Given the description of an element on the screen output the (x, y) to click on. 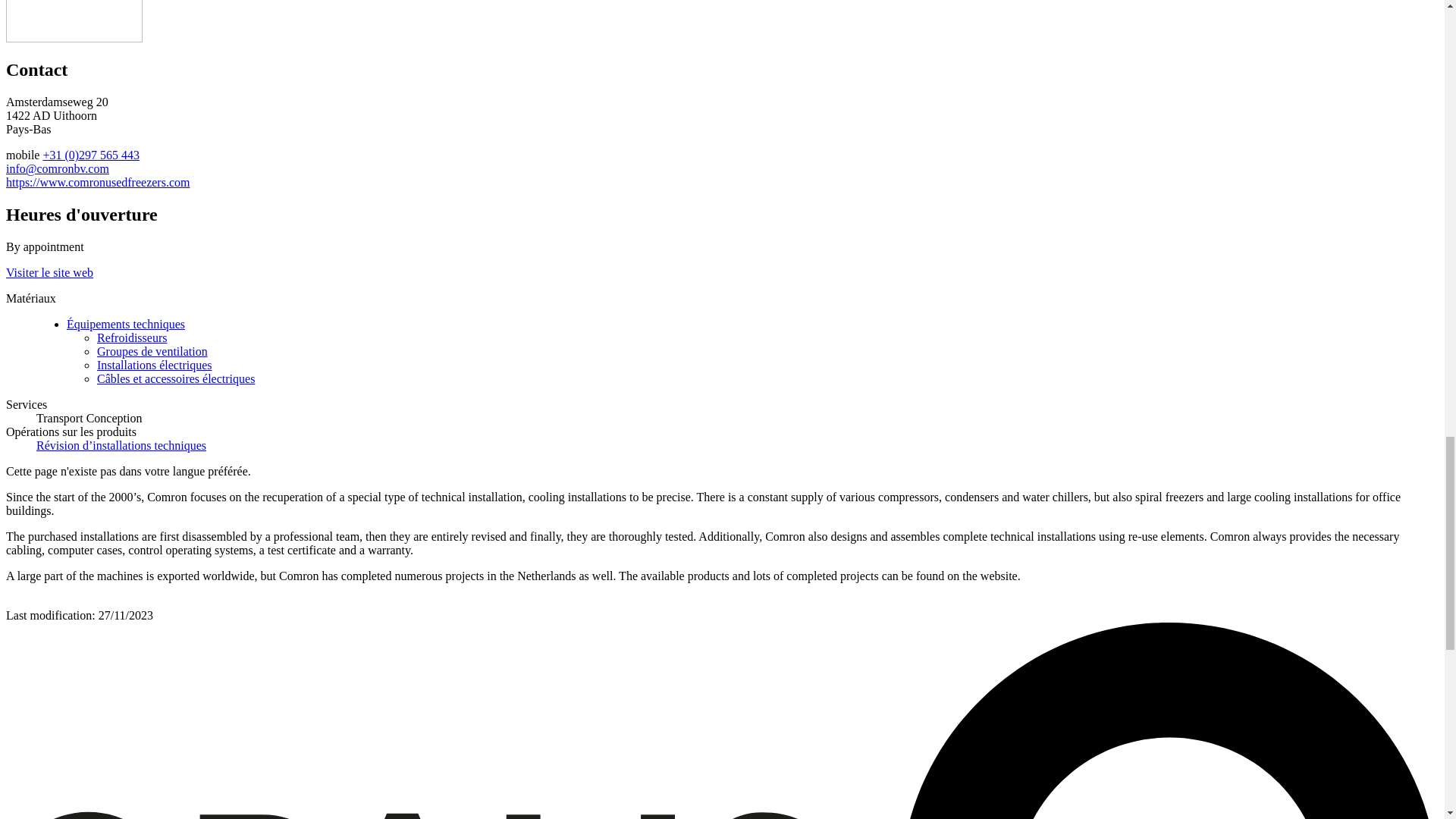
Refroidisseurs (132, 337)
Groupes de ventilation (152, 350)
Visiter le site web (49, 272)
